Given the description of an element on the screen output the (x, y) to click on. 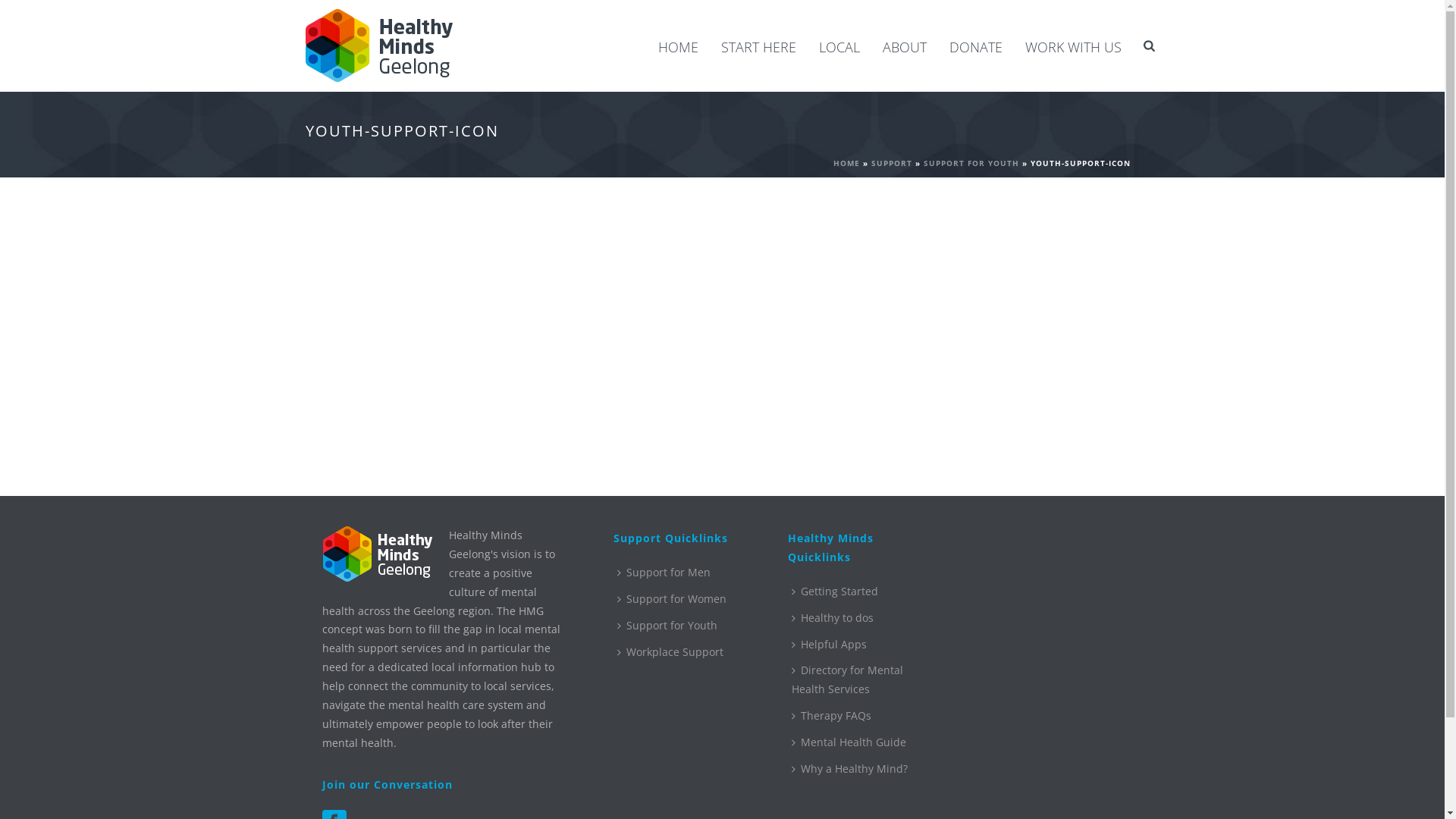
Support for Men Element type: text (667, 572)
Mental Health Guide Element type: text (852, 742)
Support for Women Element type: text (675, 599)
DONATE Element type: text (975, 46)
Support for Youth Element type: text (670, 625)
Directory for Mental Health Services Element type: text (861, 679)
Helpful Apps Element type: text (832, 644)
SUPPORT Element type: text (890, 162)
Why a Healthy Mind? Element type: text (853, 769)
Healthy to dos Element type: text (835, 618)
SUPPORT FOR YOUTH Element type: text (971, 162)
WORK WITH US Element type: text (1072, 46)
Getting Started Element type: text (838, 591)
LOCAL Element type: text (839, 46)
Therapy FAQs Element type: text (834, 715)
ABOUT Element type: text (904, 46)
START HERE Element type: text (758, 46)
Workplace Support Element type: text (673, 652)
HOME Element type: text (845, 162)
Changing minds about mental health Element type: hover (378, 45)
HOME Element type: text (677, 46)
